Given the description of an element on the screen output the (x, y) to click on. 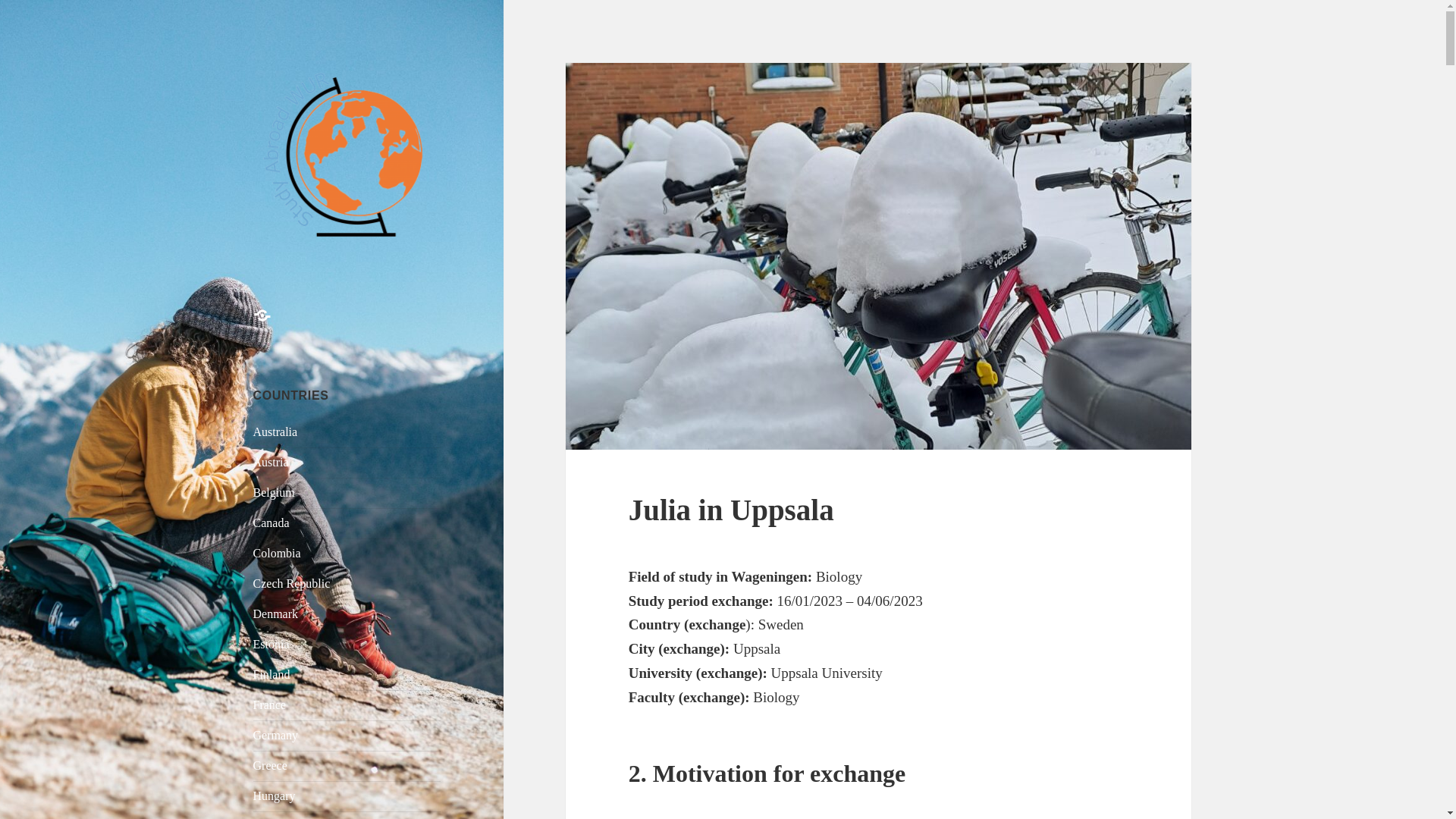
France (269, 704)
Hungary (274, 795)
Estonia (271, 644)
Germany (275, 735)
Welcome (271, 324)
Greece (269, 765)
Denmark (275, 613)
Belgium (274, 492)
Australia (275, 431)
Austria (270, 461)
